Given the description of an element on the screen output the (x, y) to click on. 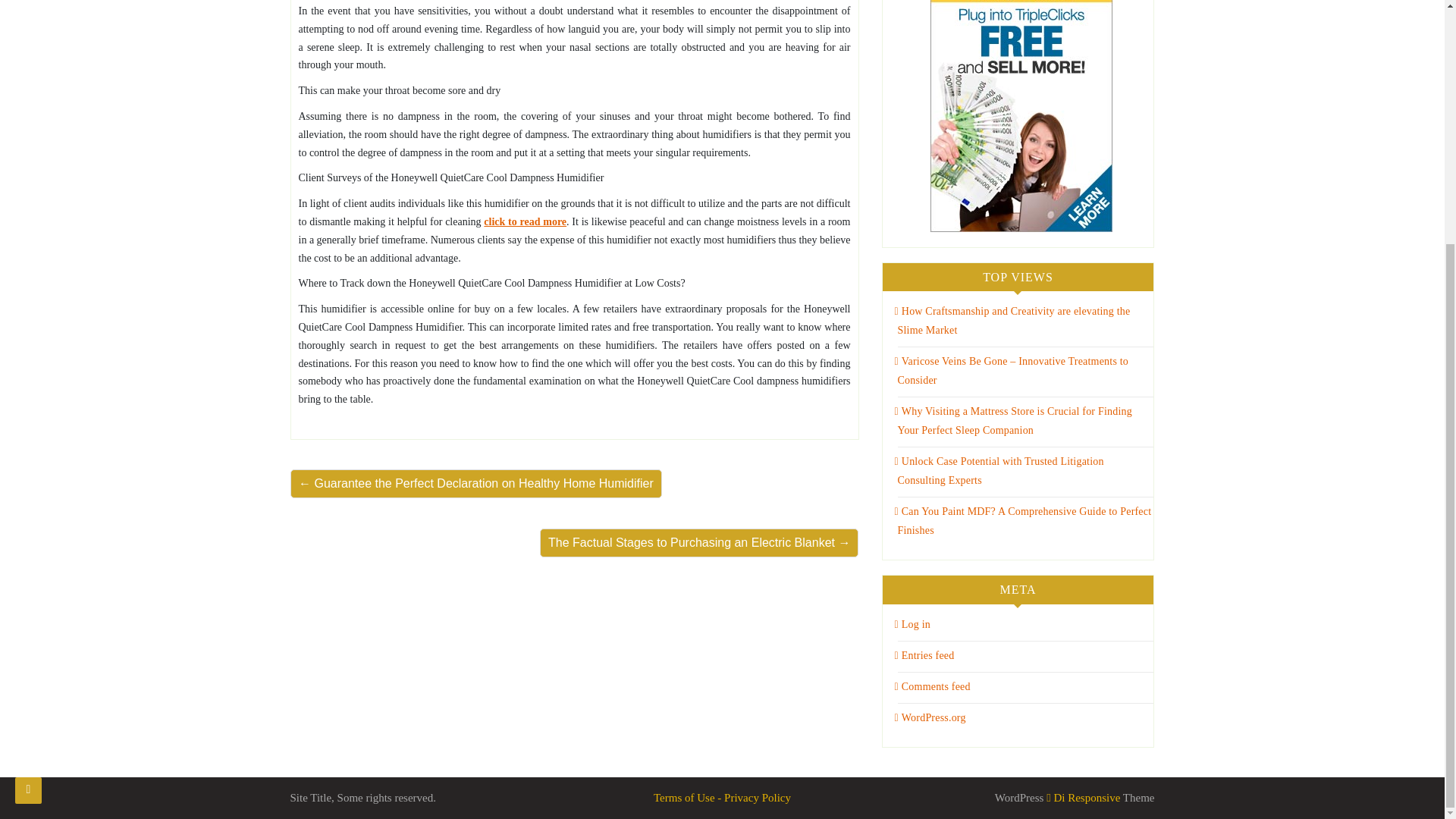
WordPress.org (930, 717)
Di Responsive (1082, 797)
click to read more (524, 221)
Terms of Use - Privacy Policy (721, 797)
Entries feed (925, 655)
Can You Paint MDF? A Comprehensive Guide to Perfect Finishes (1023, 521)
Comments feed (933, 686)
